Given the description of an element on the screen output the (x, y) to click on. 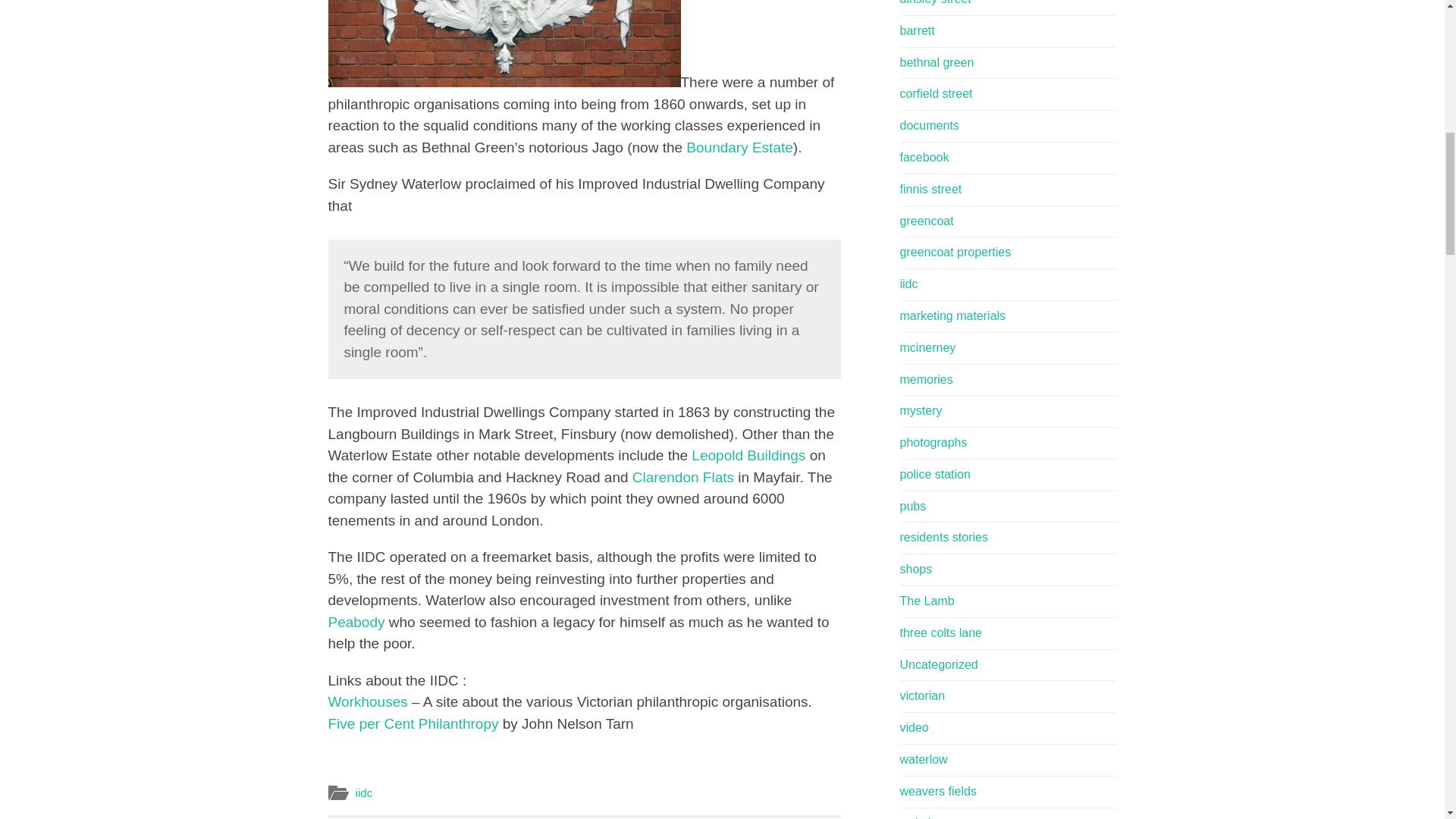
Leopold Buildings (748, 455)
corfield street (935, 92)
Boundary Estate (738, 147)
finnis street (929, 188)
Peabody (355, 621)
facebook (924, 156)
barrett (916, 30)
Five per Cent Philanthropy (412, 723)
iidc (363, 792)
Workhouses (367, 701)
bethnal green (682, 477)
ainsley street (936, 62)
